Given the description of an element on the screen output the (x, y) to click on. 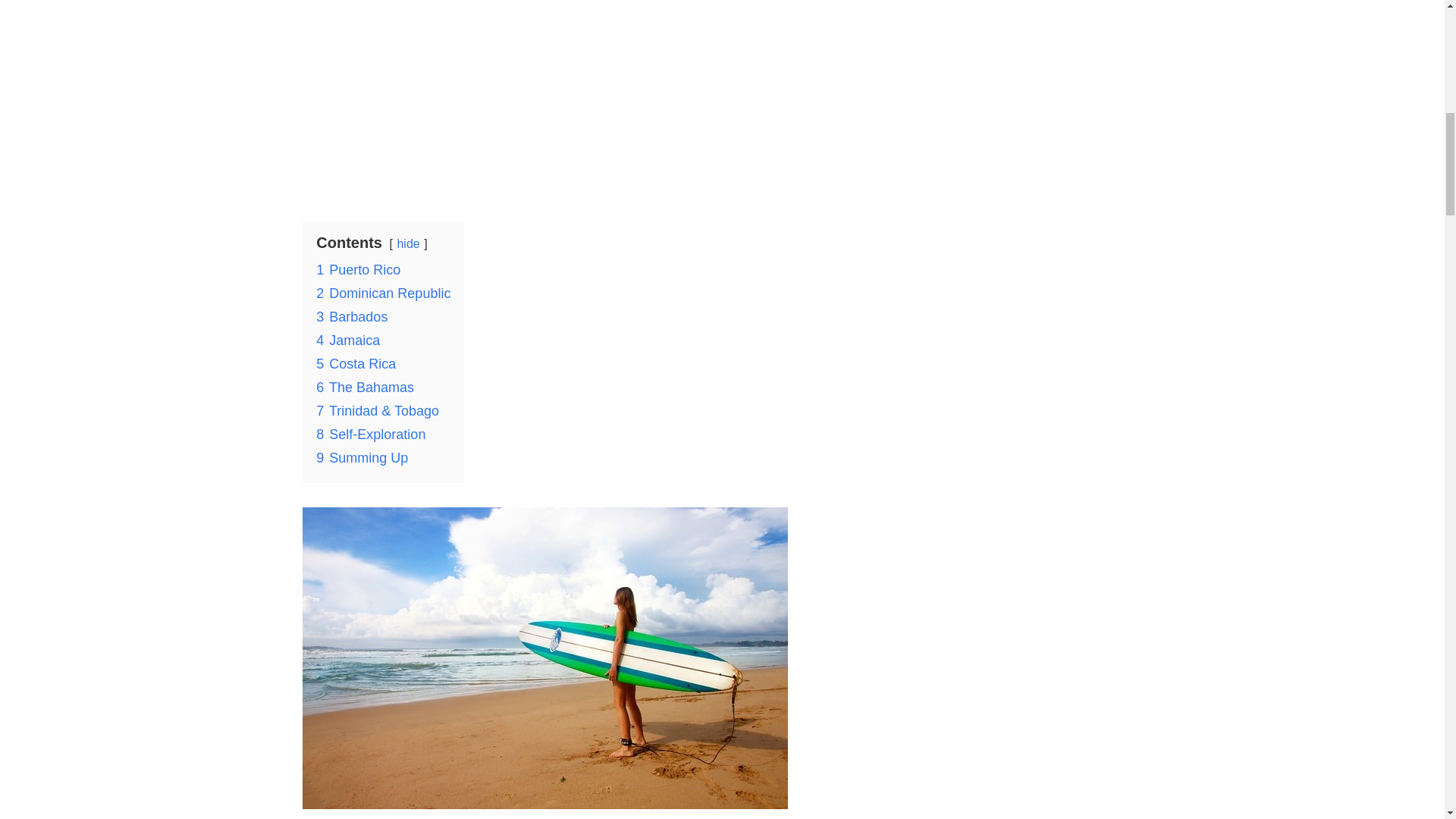
3 Barbados (351, 316)
5 Costa Rica (355, 363)
8 Self-Exploration (370, 434)
2 Dominican Republic (382, 293)
9 Summing Up (361, 458)
4 Jamaica (347, 340)
hide (407, 243)
6 The Bahamas (364, 387)
1 Puerto Rico (357, 269)
